Given the description of an element on the screen output the (x, y) to click on. 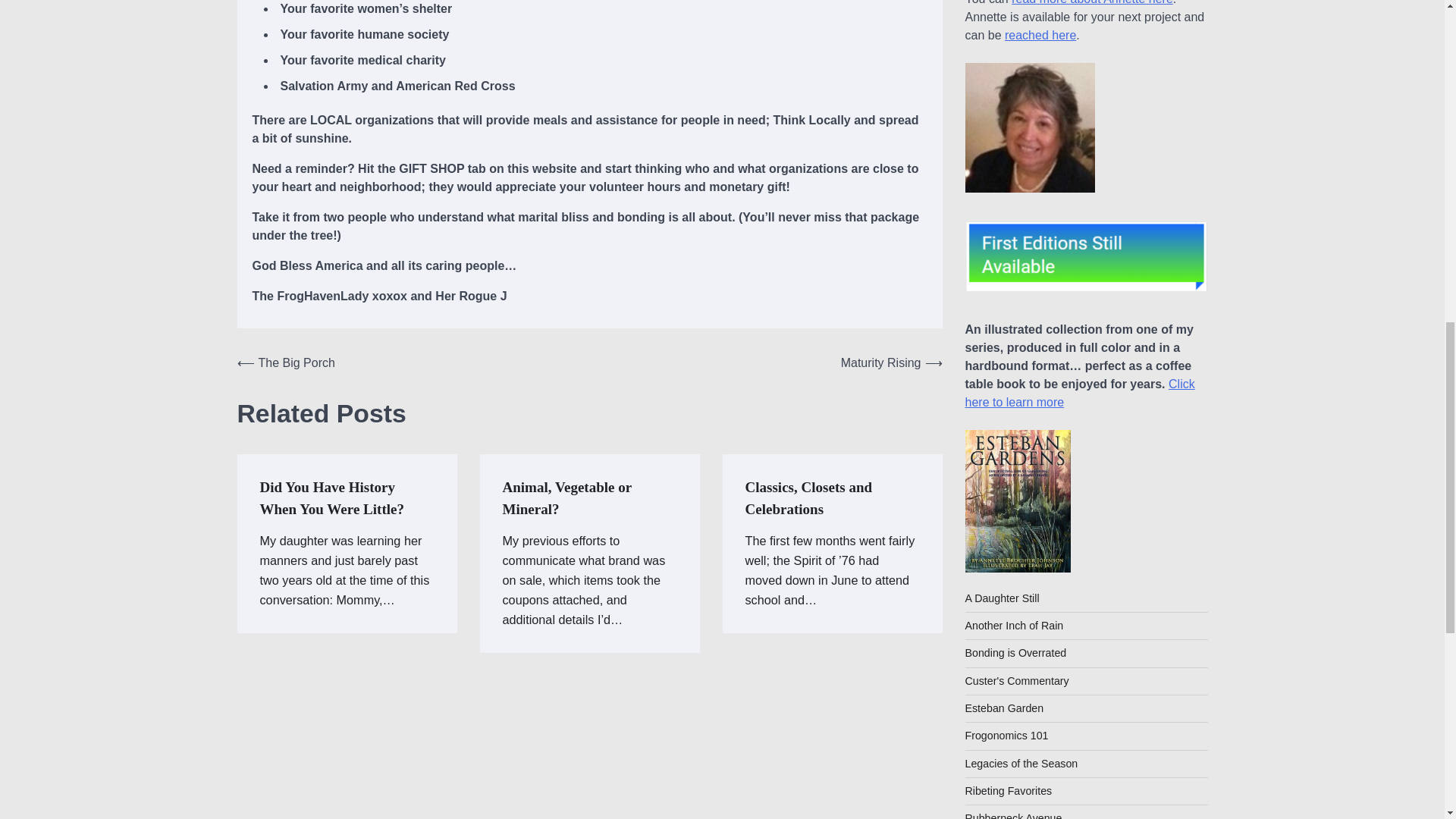
Frogonomics 101 (1005, 735)
read more about Annette here (1092, 2)
Custer's Commentary (1015, 680)
Legacies of the Season (1020, 763)
Classics, Closets and Celebrations (808, 497)
Bonding is Overrated (1014, 653)
A Daughter Still (1001, 598)
Rubberneck Avenue (1012, 815)
reached here (1039, 34)
Another Inch of Rain (1012, 625)
Did You Have History When You Were Little? (331, 497)
Esteban Garden (1003, 707)
Click here to learn more (1078, 392)
Ribeting Favorites (1007, 790)
Animal, Vegetable or Mineral? (566, 497)
